Given the description of an element on the screen output the (x, y) to click on. 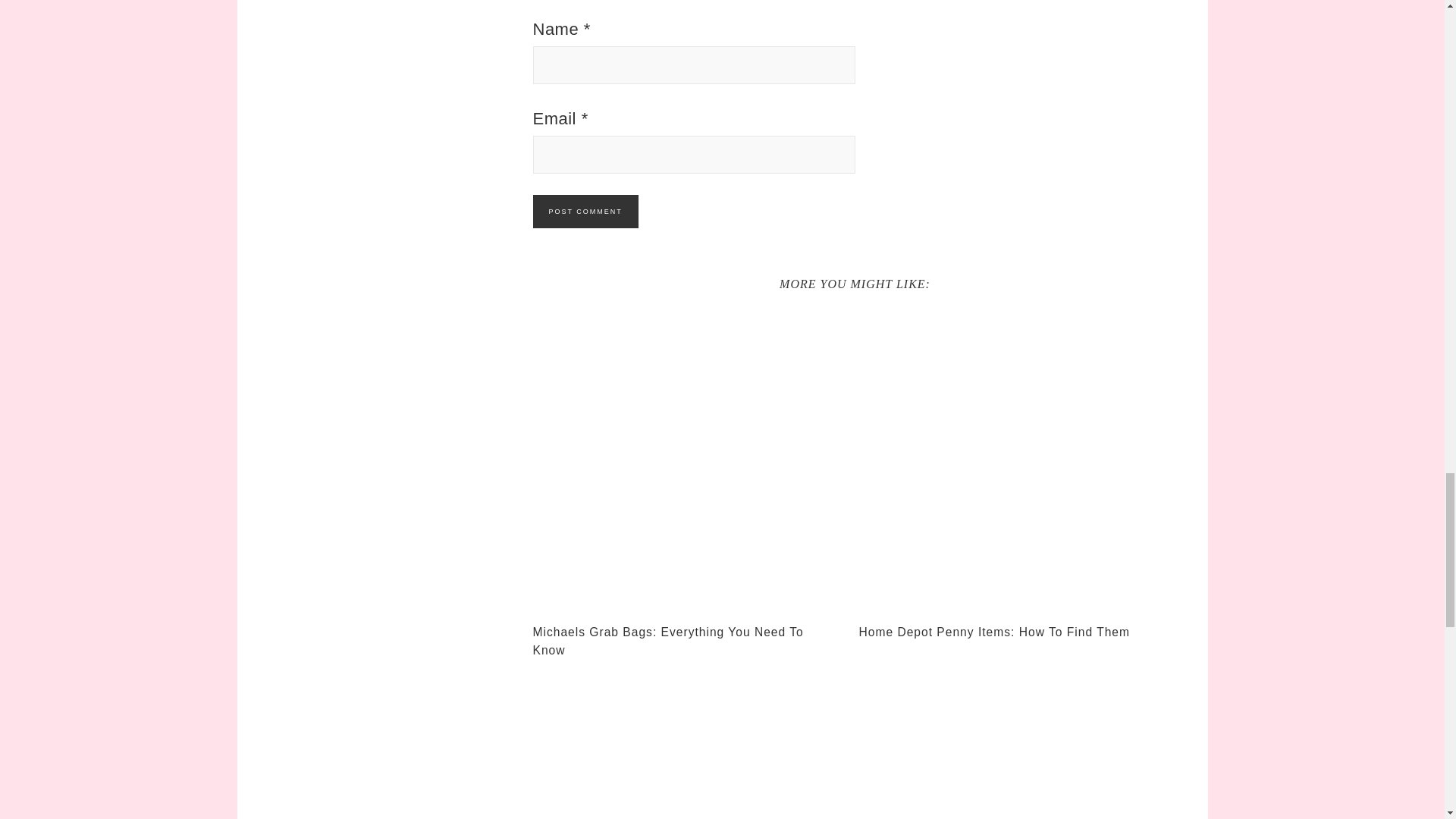
Michaels Grab Bags: Everything You Need To Know (667, 640)
Home Depot Penny Items: How To Find Them (994, 631)
Post Comment (584, 211)
Post Comment (584, 211)
